Given the description of an element on the screen output the (x, y) to click on. 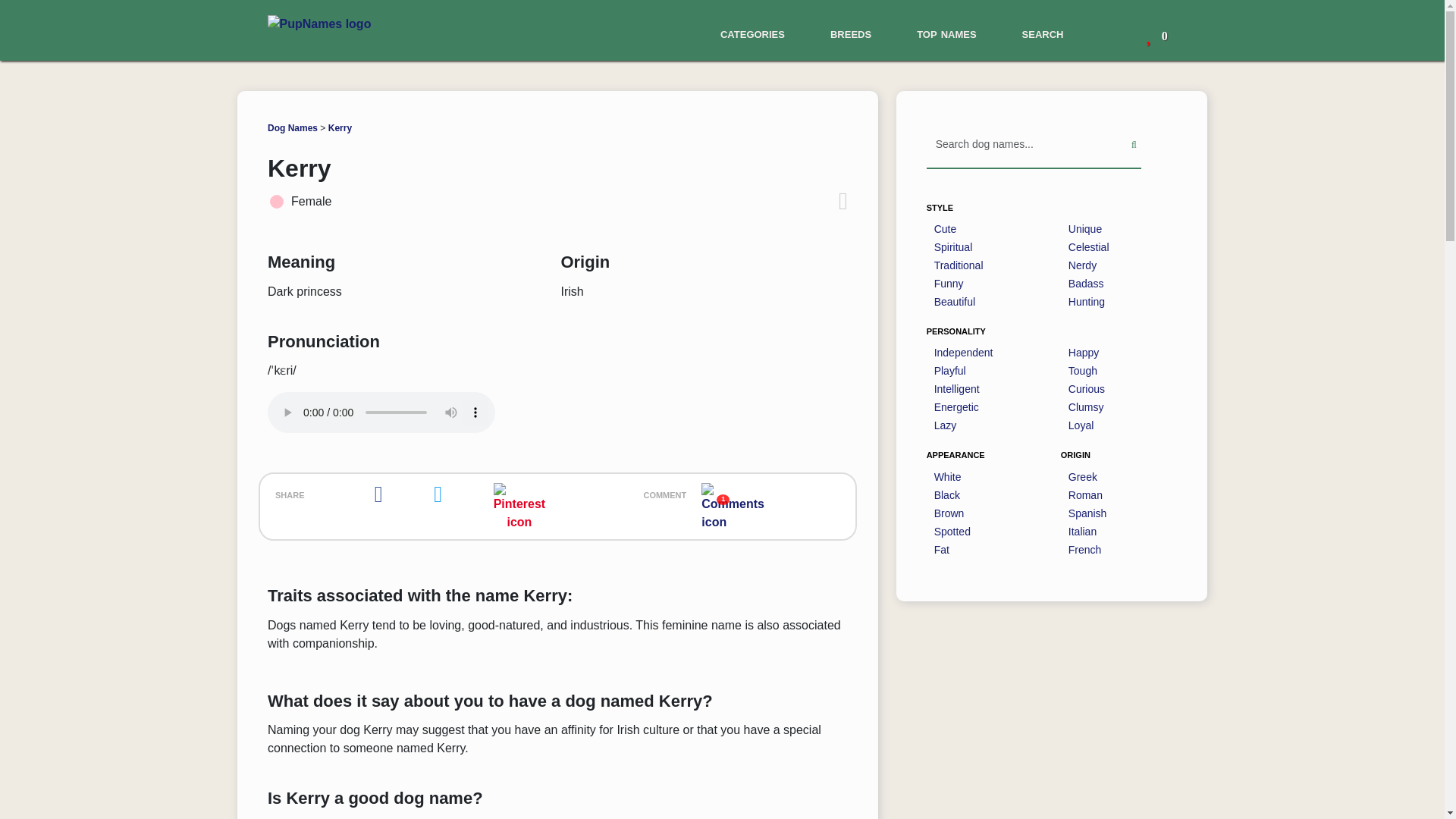
Spiritual (953, 246)
Funny (948, 283)
Badass (1085, 283)
Beautiful (954, 301)
Hunting (1086, 301)
1 (732, 505)
Dog Names (292, 127)
Celestial (1088, 246)
top names (946, 32)
categories (752, 32)
